Given the description of an element on the screen output the (x, y) to click on. 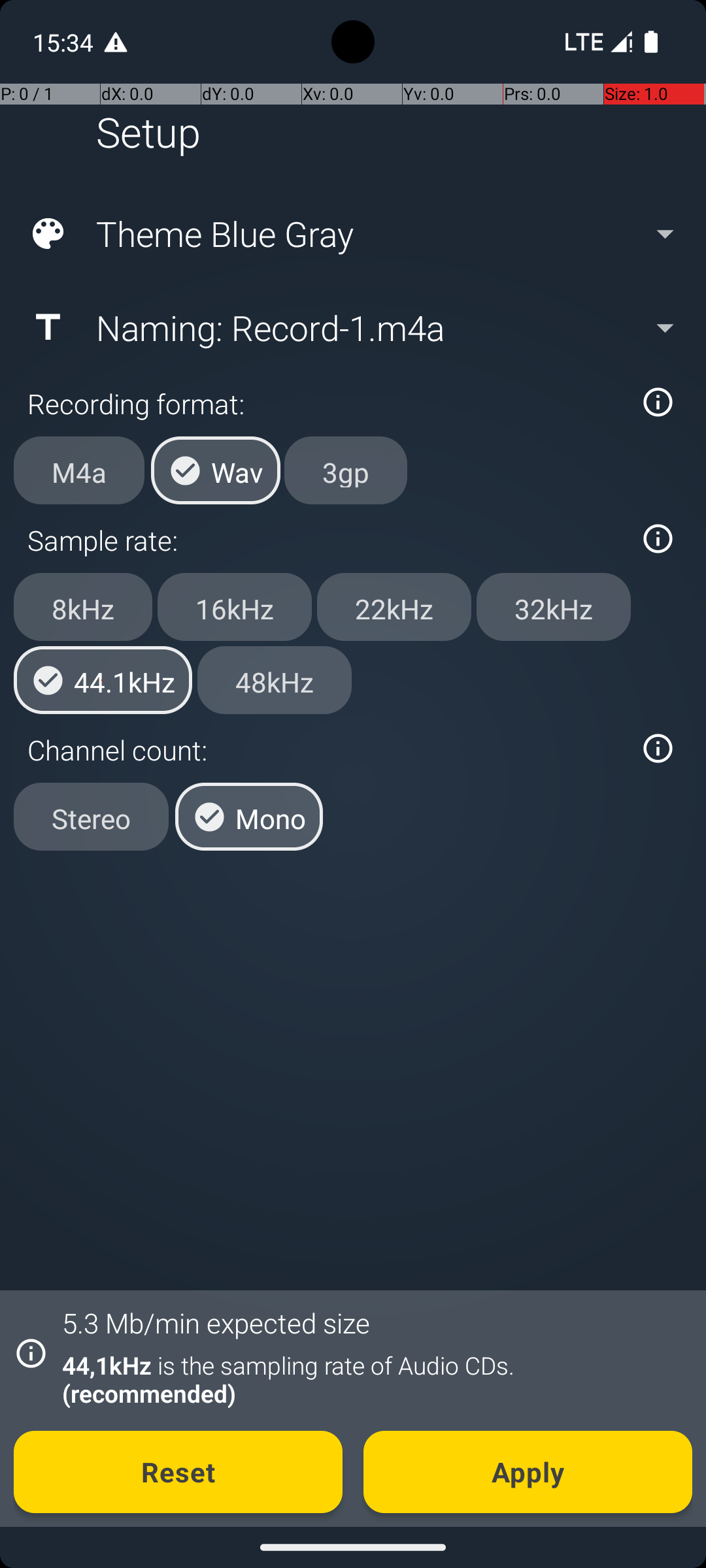
5.3 Mb/min expected size Element type: android.widget.TextView (215, 1322)
44,1kHz is the sampling rate of Audio CDs. (recommended) Element type: android.widget.TextView (370, 1378)
